Given the description of an element on the screen output the (x, y) to click on. 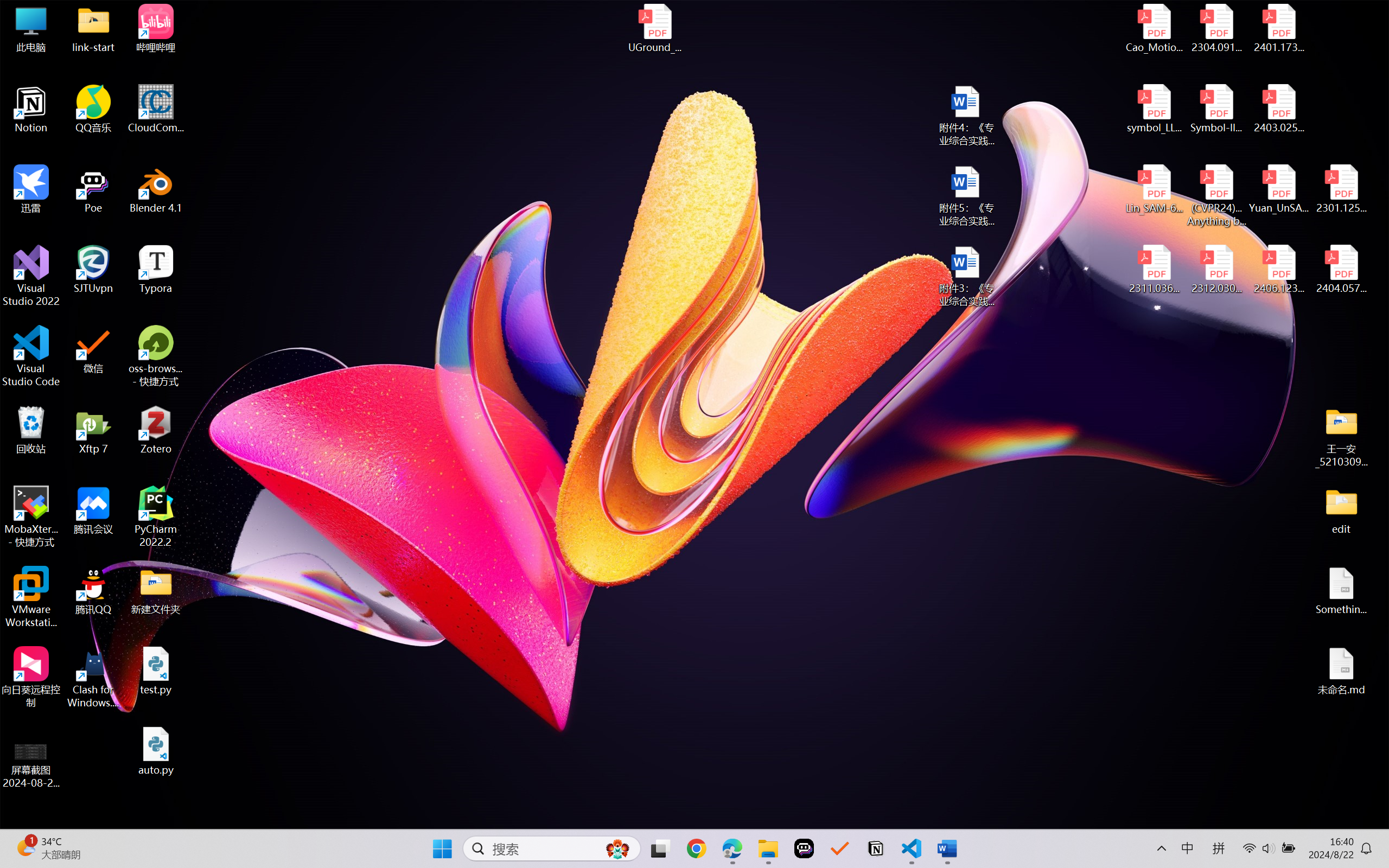
VMware Workstation Pro (31, 597)
Visual Studio Code (31, 355)
2401.17399v1.pdf (1278, 28)
Google Chrome (696, 848)
